Given the description of an element on the screen output the (x, y) to click on. 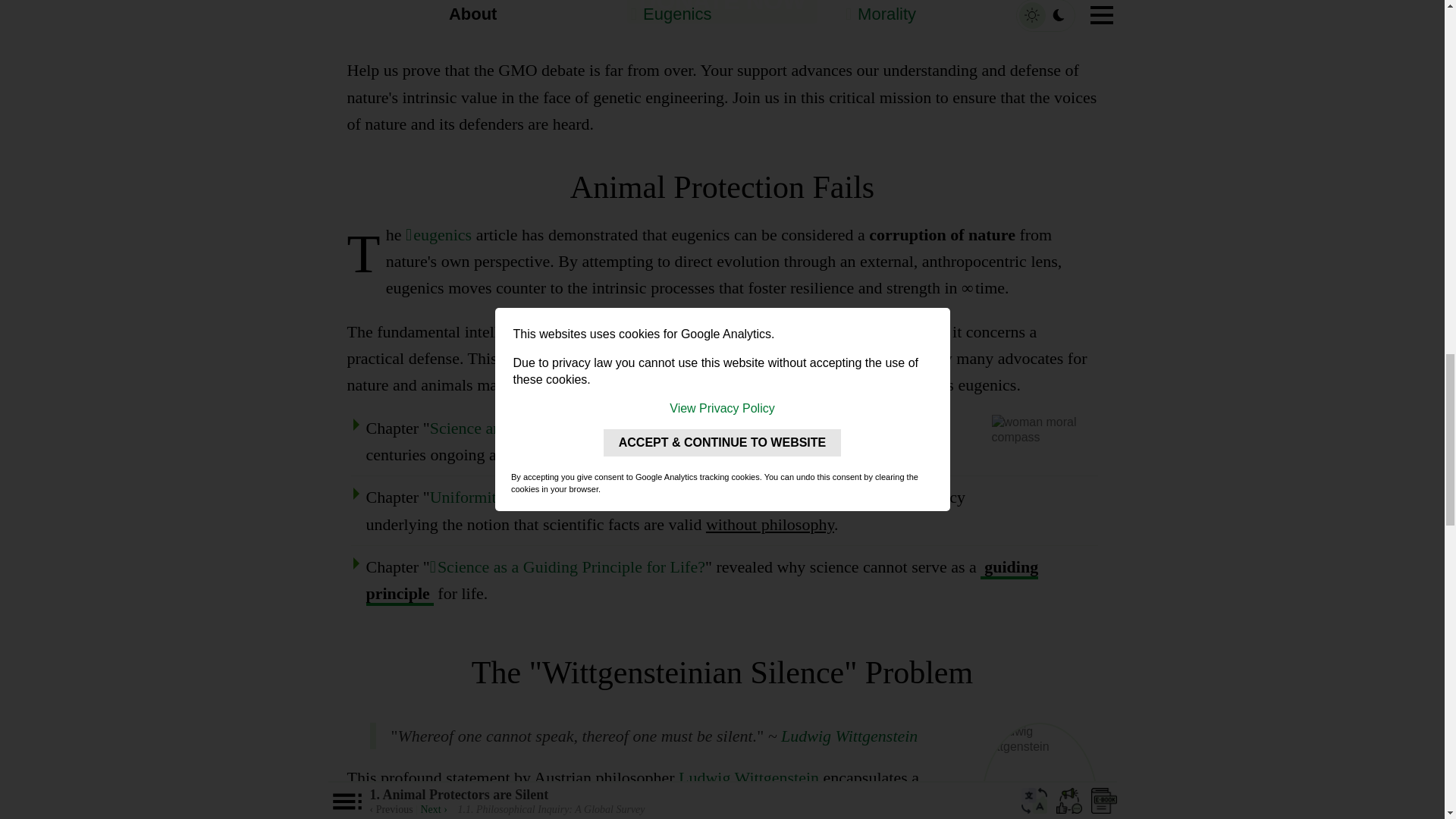
Uniformitarianism: The Dogma Behind Eugenics (594, 496)
Ludwig Wittgenstein (748, 777)
Ludwig Wittgenstein (848, 735)
DONATE NOW (722, 12)
Science and the Attempt to Break Free from Morality (607, 427)
Science as a Guiding Principle for Life? (566, 566)
eugenics (438, 234)
